Given the description of an element on the screen output the (x, y) to click on. 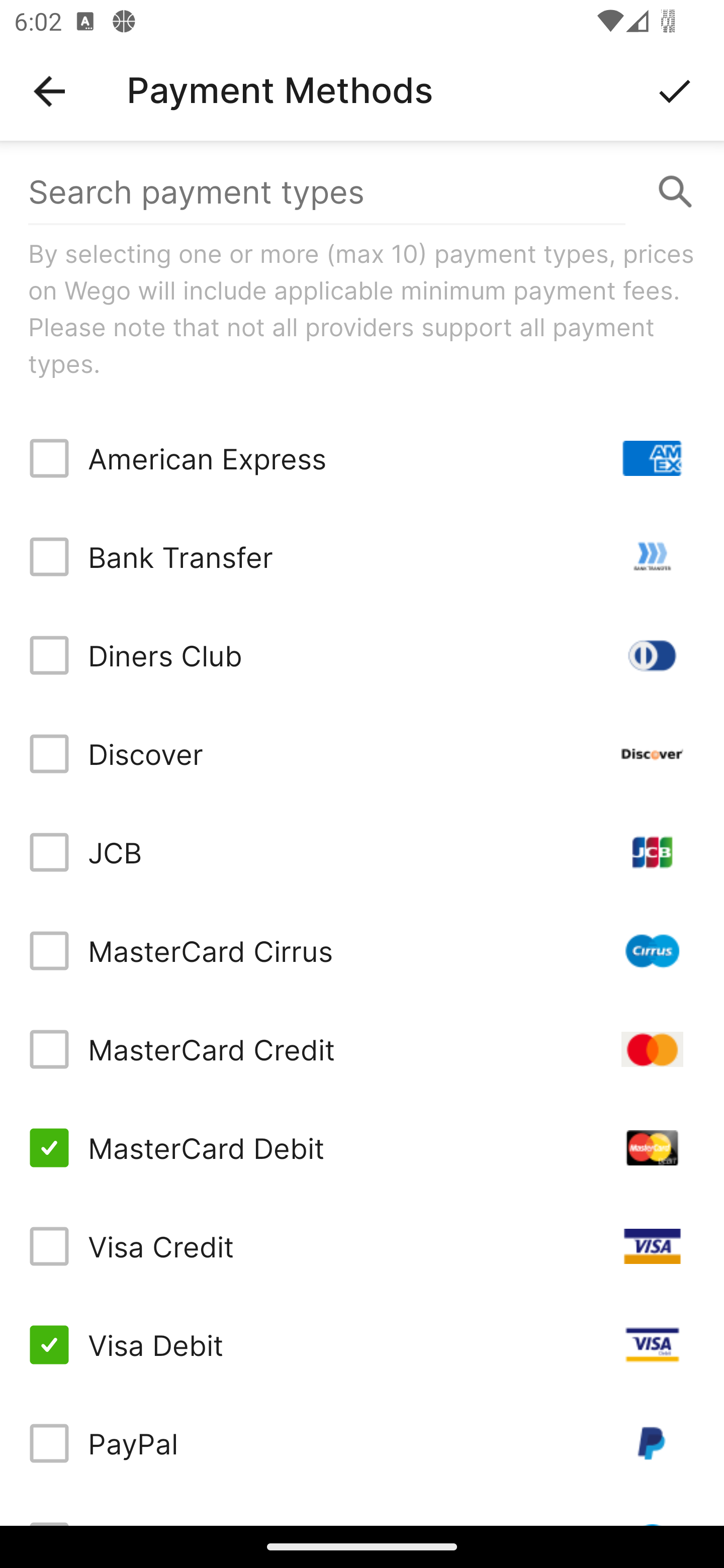
Search payment types  (361, 191)
American Express (362, 458)
Bank Transfer (362, 557)
Diners Club (362, 655)
Discover (362, 753)
JCB (362, 851)
MasterCard Cirrus (362, 950)
MasterCard Credit (362, 1049)
MasterCard Debit (362, 1147)
Visa Credit (362, 1245)
Visa Debit (362, 1344)
PayPal (362, 1442)
